Given the description of an element on the screen output the (x, y) to click on. 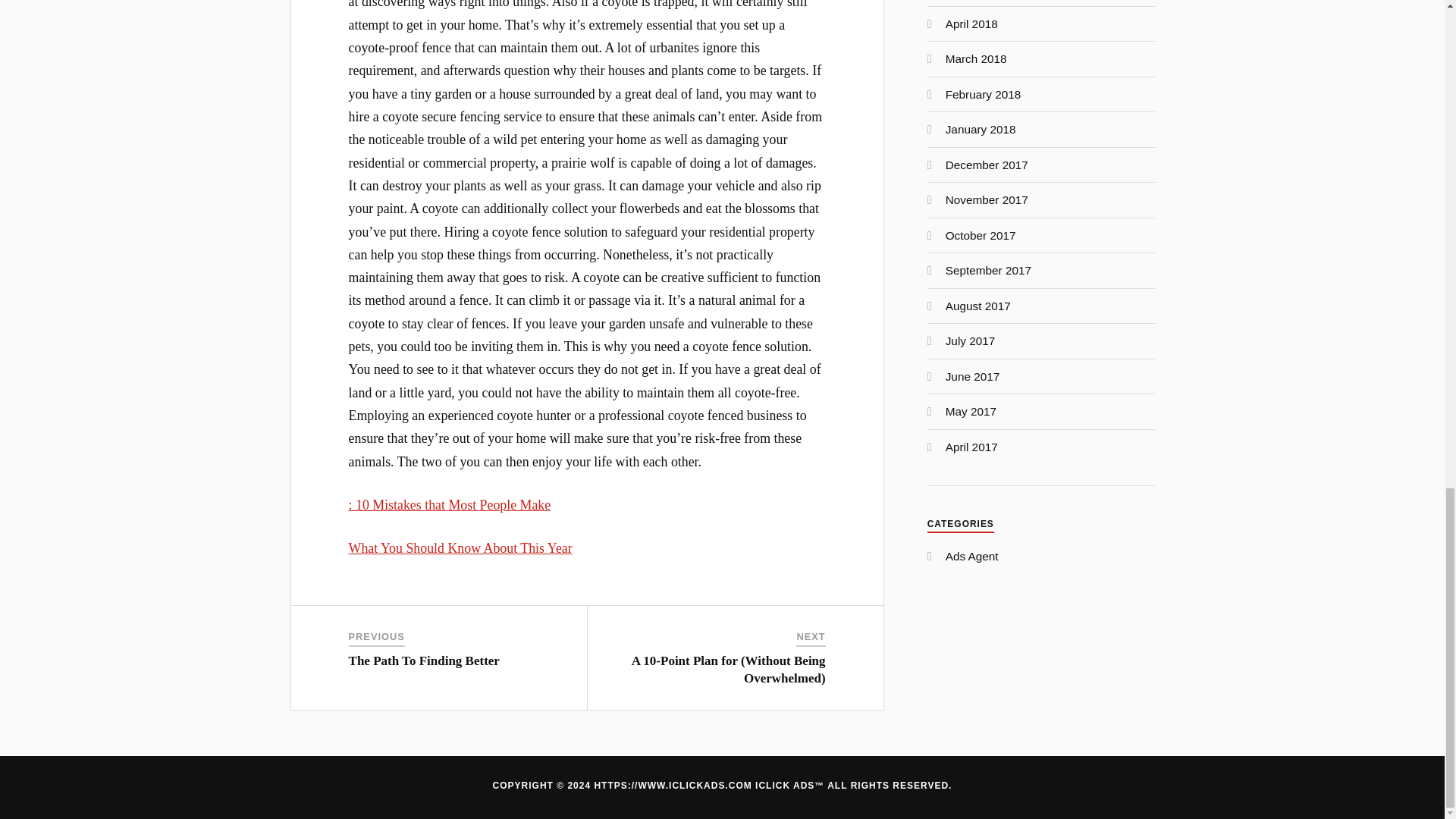
The Path To Finding Better (424, 660)
September 2017 (987, 269)
April 2018 (970, 23)
August 2017 (977, 305)
January 2018 (980, 128)
October 2017 (980, 235)
: 10 Mistakes that Most People Make (450, 504)
March 2018 (975, 58)
December 2017 (985, 164)
July 2017 (969, 340)
November 2017 (985, 199)
What You Should Know About This Year (460, 548)
February 2018 (983, 93)
